Given the description of an element on the screen output the (x, y) to click on. 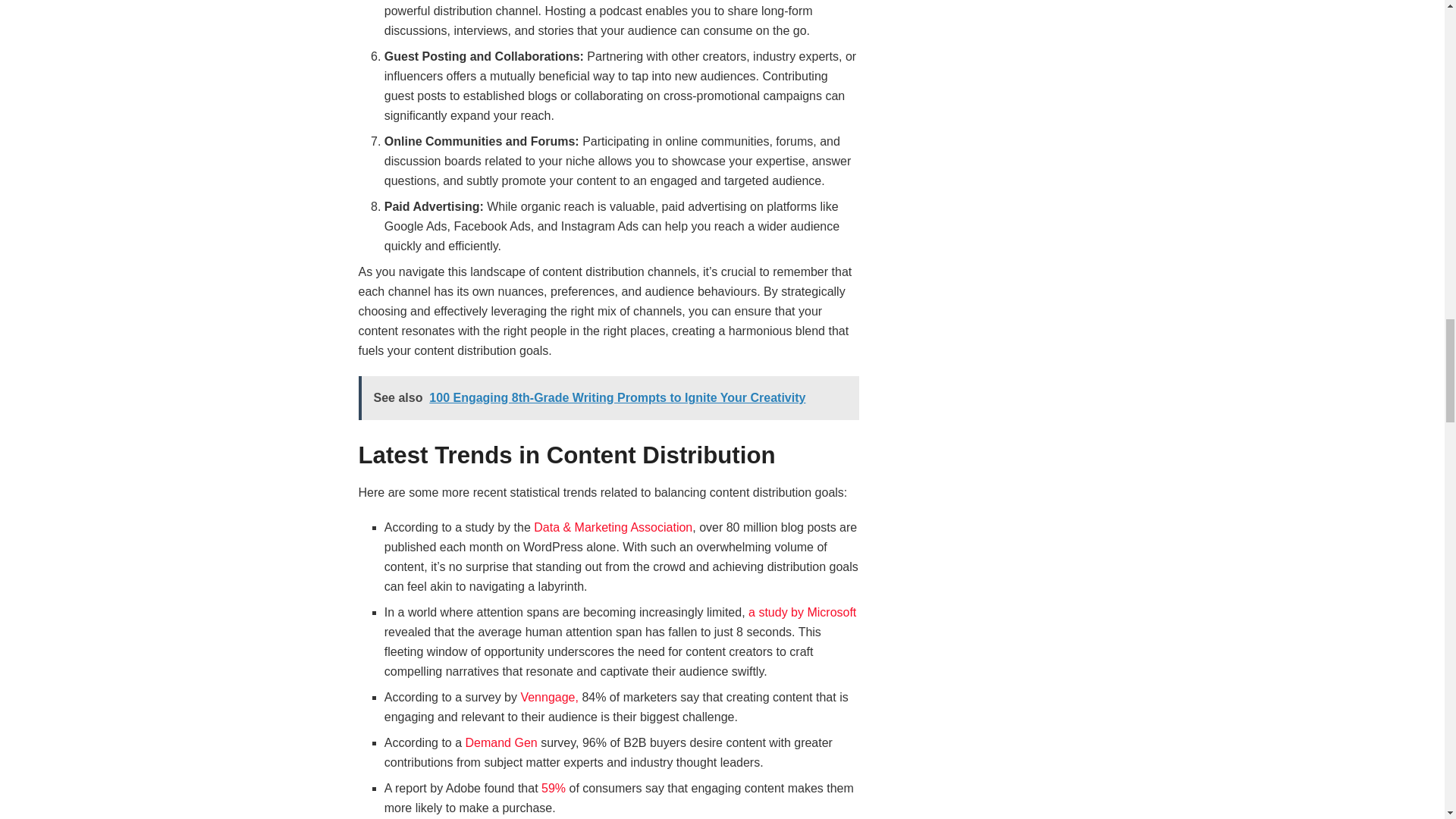
a study by Microsoft (801, 612)
